Given the description of an element on the screen output the (x, y) to click on. 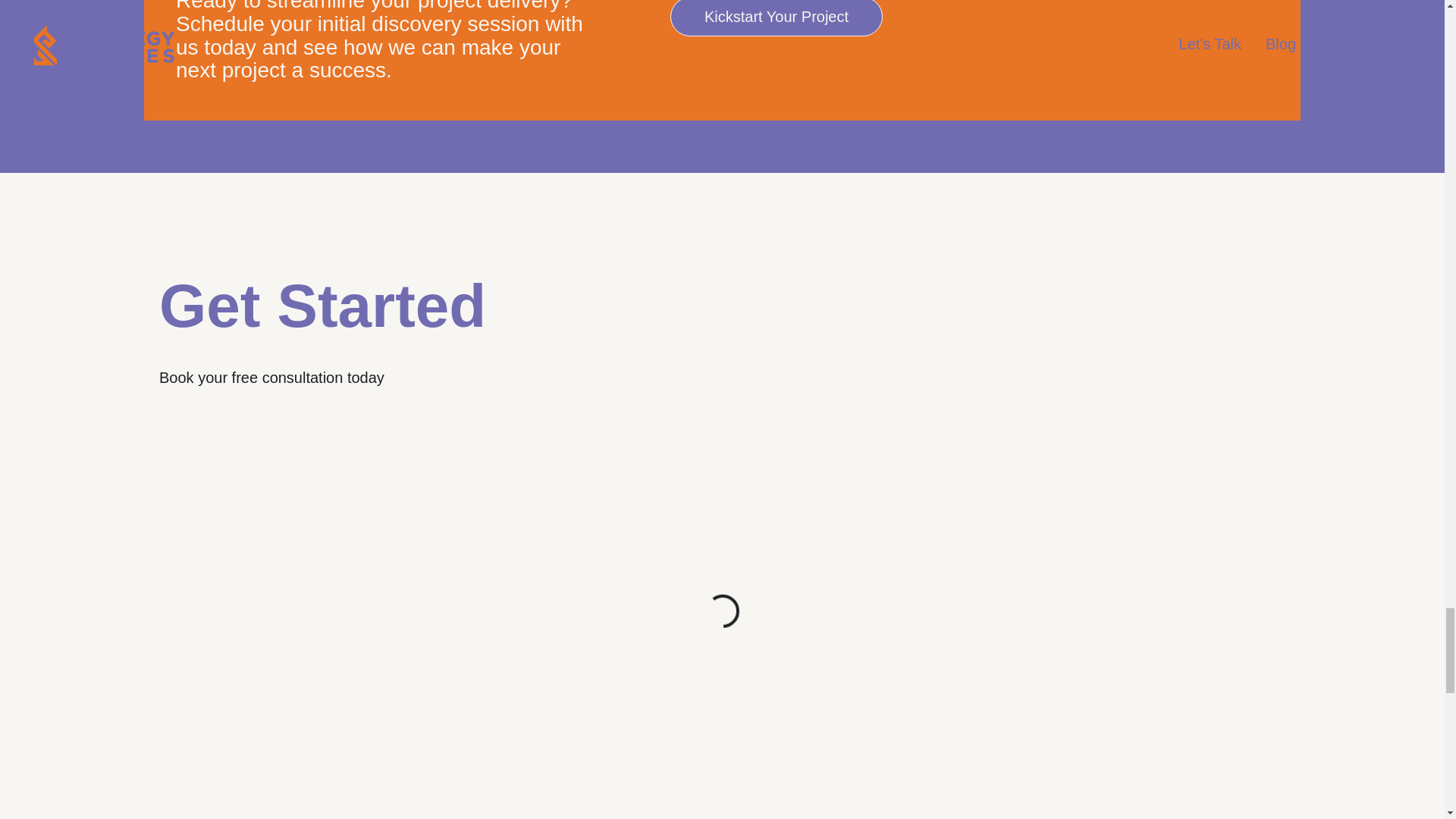
Kickstart Your Project (775, 18)
